Given the description of an element on the screen output the (x, y) to click on. 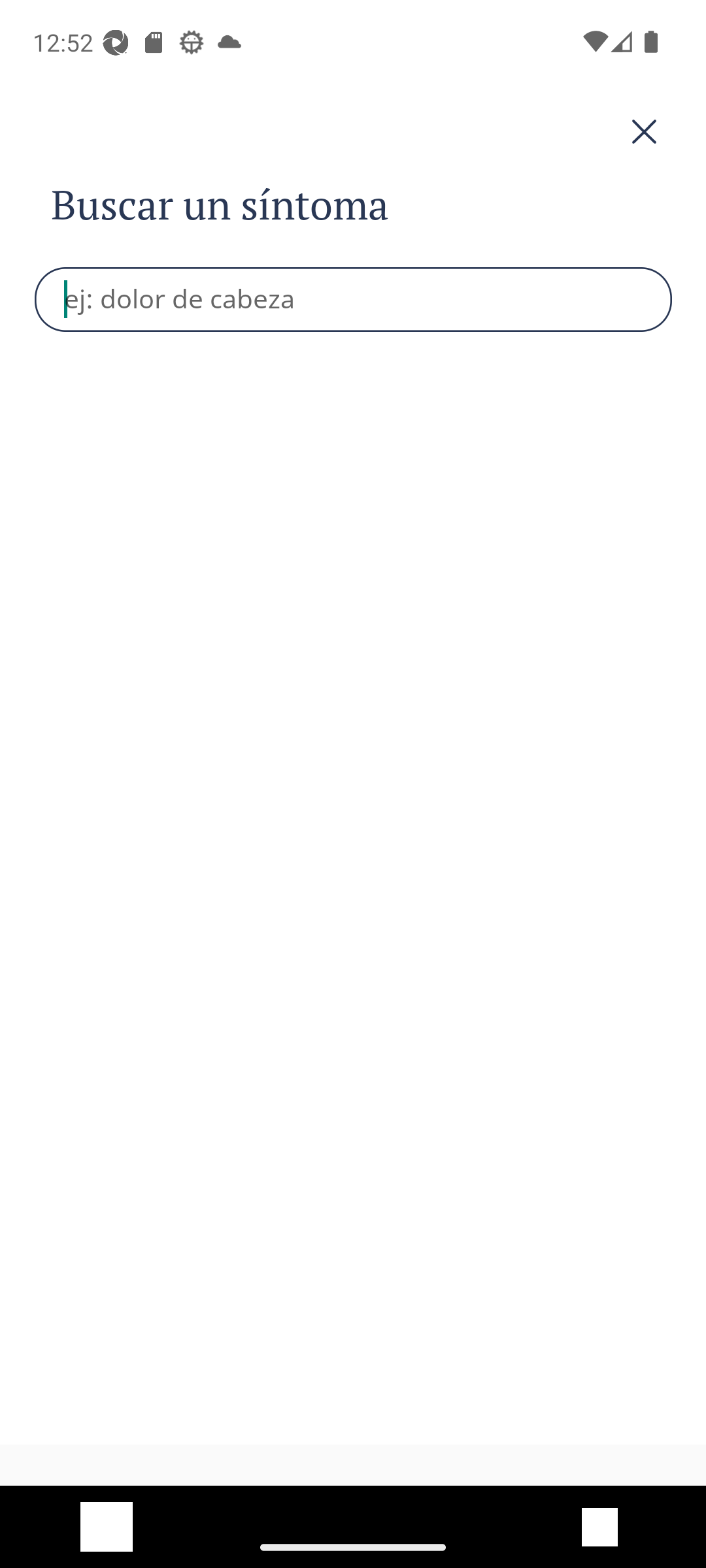
Close, button (353, 131)
ej: dolor de cabeza (353, 299)
